Given the description of an element on the screen output the (x, y) to click on. 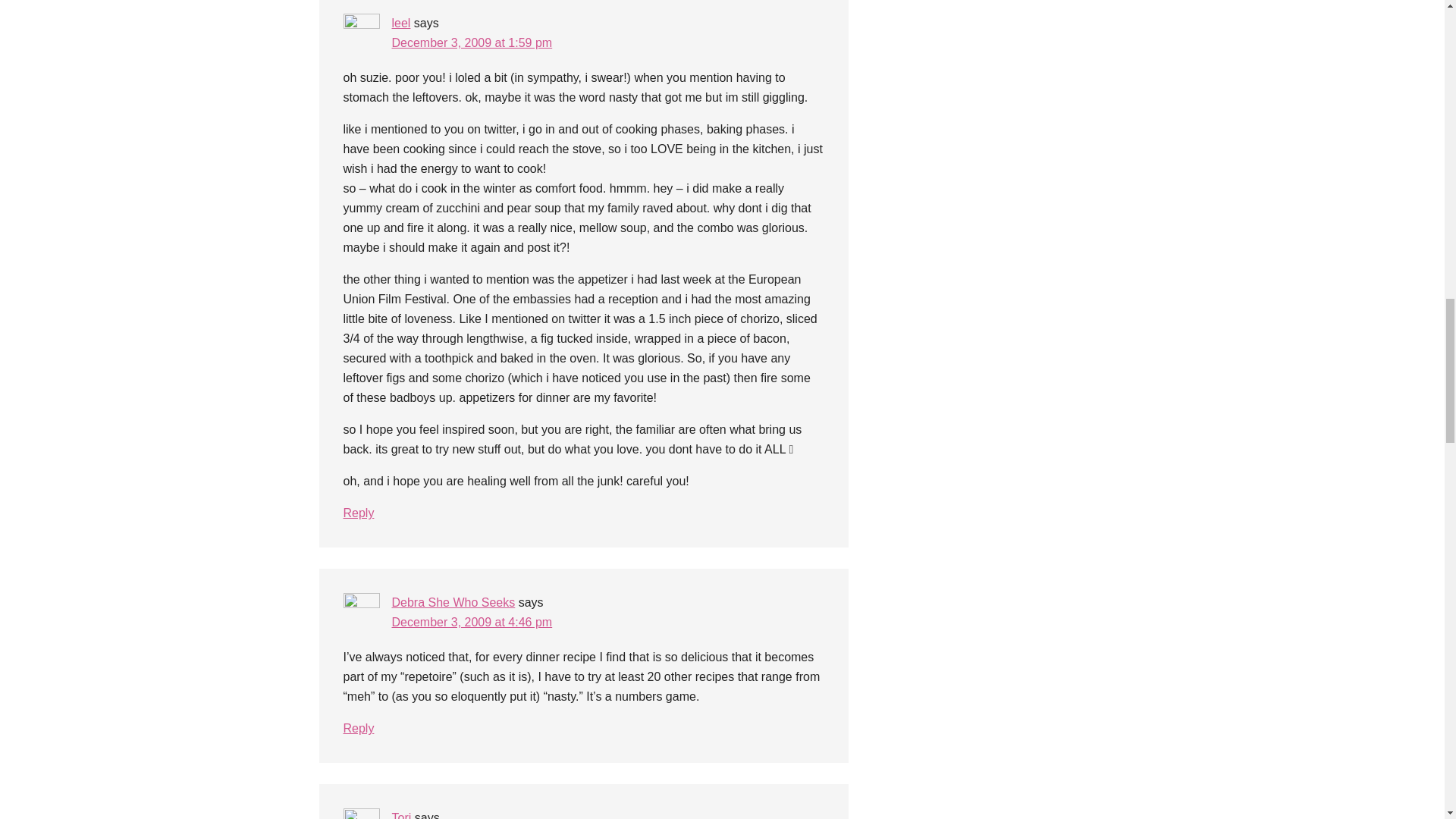
leel (400, 22)
December 3, 2009 at 4:46 pm (471, 621)
Reply (358, 512)
December 3, 2009 at 1:59 pm (471, 42)
Debra She Who Seeks (453, 602)
Reply (358, 727)
